Given the description of an element on the screen output the (x, y) to click on. 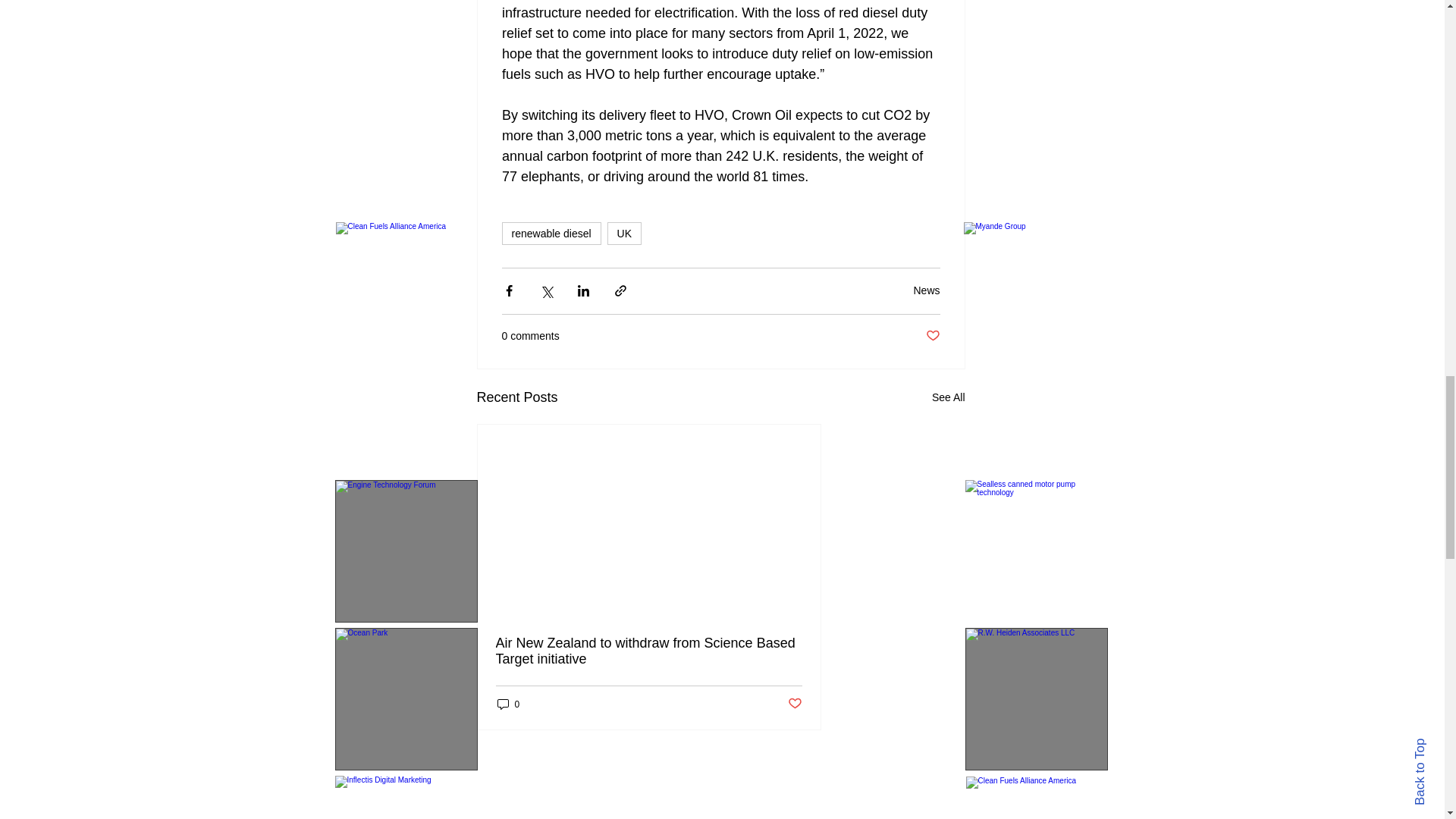
UK (624, 232)
Inflectis Digital Marketing  (405, 797)
R.W. Heiden Associates LLC (1034, 699)
Post not marked as liked (794, 703)
renewable diesel (551, 232)
Engine Technology Forum (405, 550)
0 (508, 703)
Clean Fuels Alliance America (1037, 797)
See All (948, 397)
Post not marked as liked (931, 335)
News (925, 290)
